Given the description of an element on the screen output the (x, y) to click on. 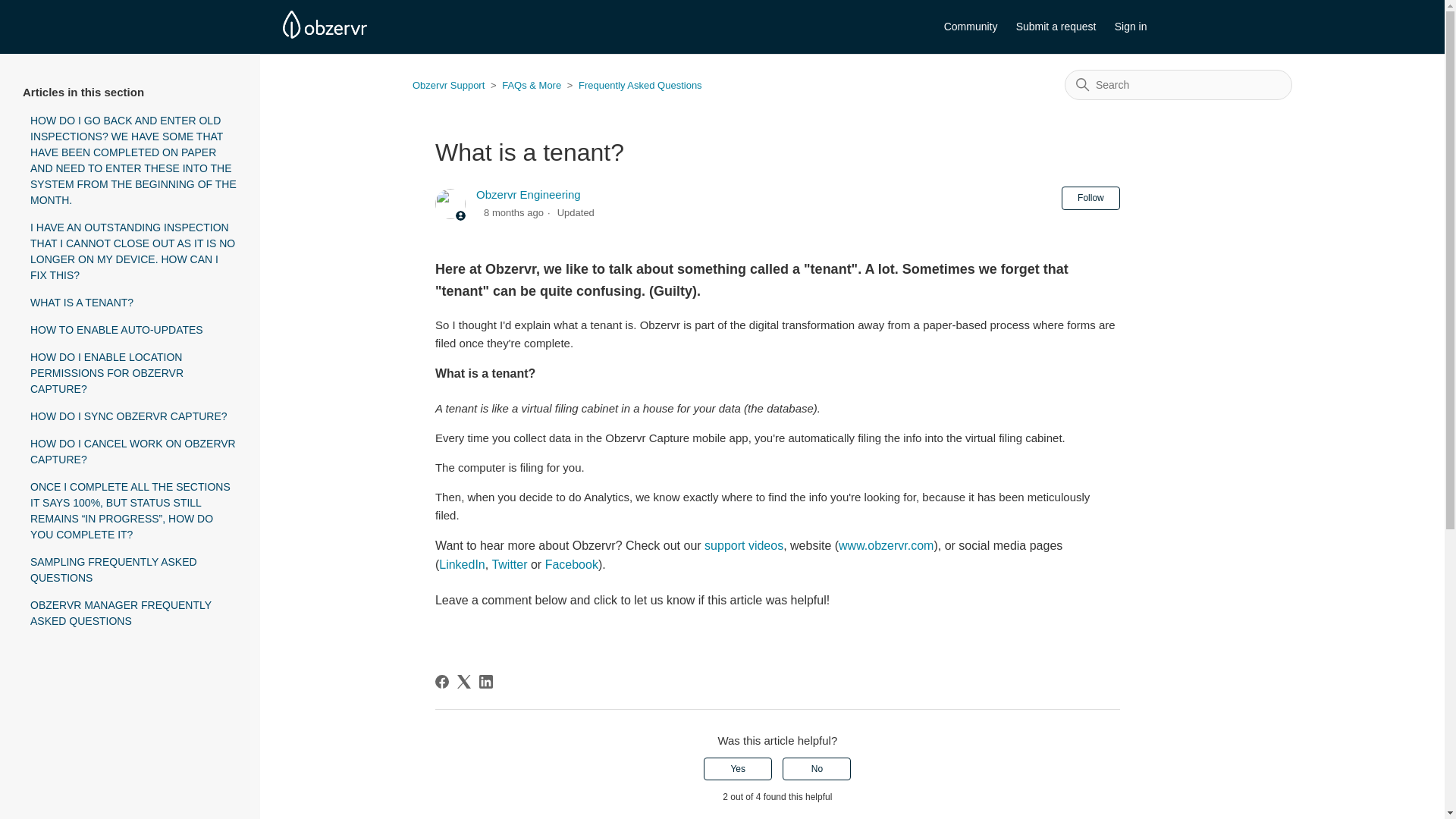
Frequently Asked Questions (639, 84)
Follow (1090, 197)
HOW DO I CANCEL WORK ON OBZERVR CAPTURE? (133, 450)
HOW DO I ENABLE LOCATION PERMISSIONS FOR OBZERVR CAPTURE? (133, 372)
SAMPLING FREQUENTLY ASKED QUESTIONS (133, 569)
2023-11-13 07:52 (513, 212)
OBZERVR MANAGER FREQUENTLY ASKED QUESTIONS (133, 613)
What is a tenant?  (777, 152)
Yes (737, 768)
Opens a dialog (1138, 26)
Sign in (1138, 26)
Submit a request (1064, 26)
Obzervr Support (448, 84)
